Given the description of an element on the screen output the (x, y) to click on. 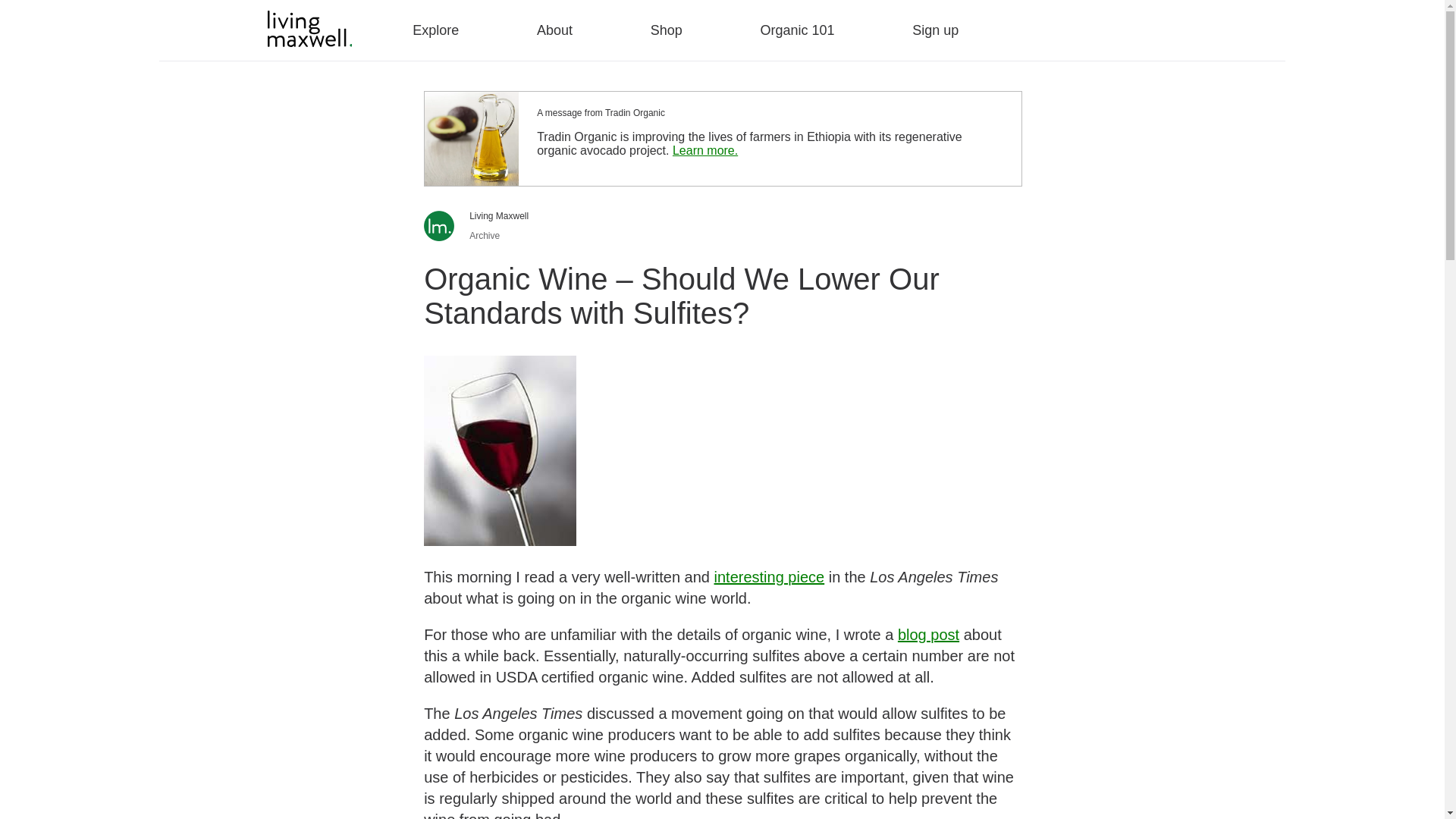
Learn more. (705, 150)
Organic 101 (797, 29)
About (554, 29)
blog post (928, 634)
Sign up (935, 29)
Explore (435, 29)
Shop (666, 29)
interesting piece (769, 576)
